Given the description of an element on the screen output the (x, y) to click on. 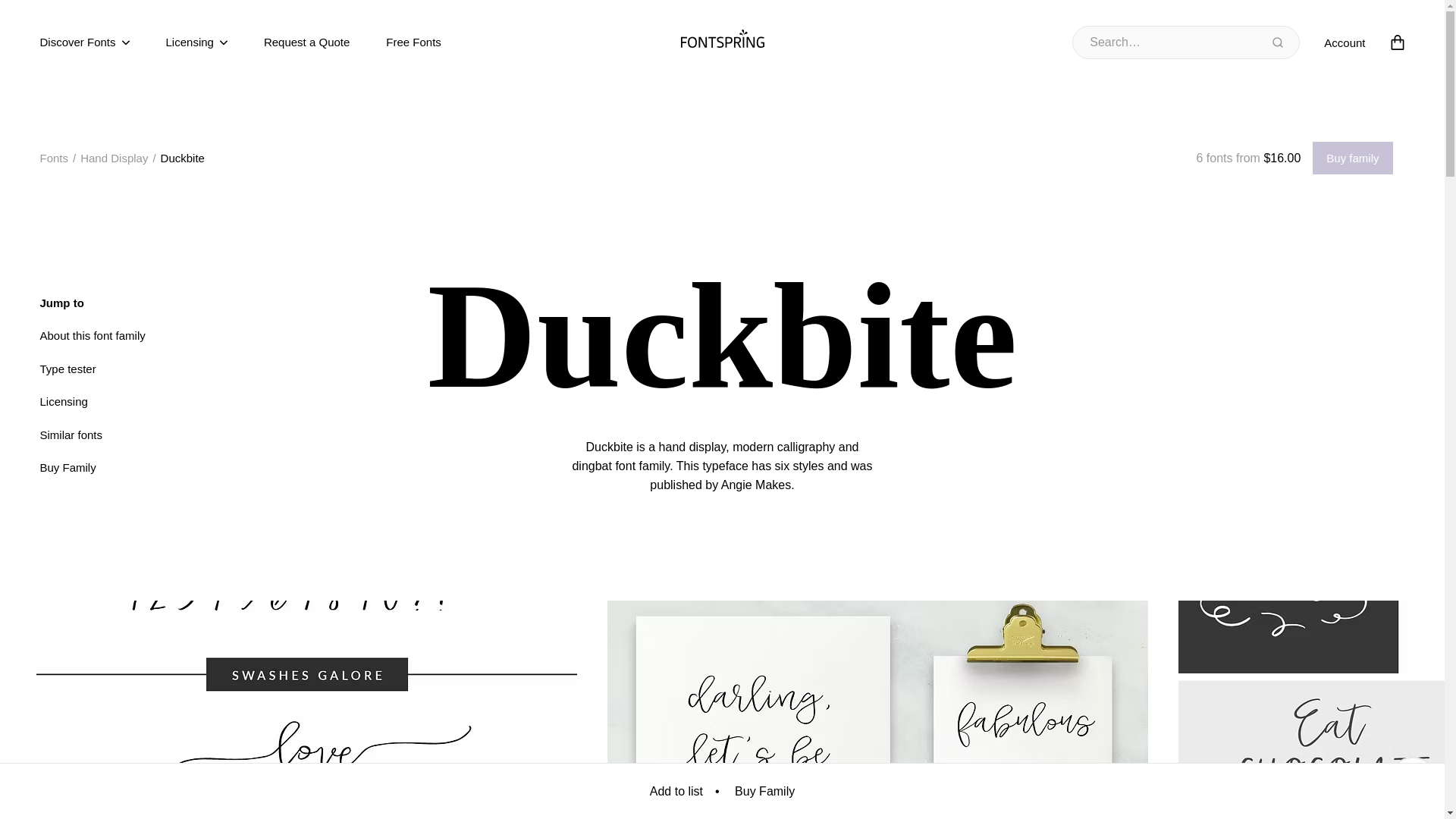
Duckbite (182, 157)
Request a Quote (306, 42)
Free Fonts (413, 42)
Type tester (67, 368)
Buy Family (67, 466)
About this font family (91, 335)
Hand Display (114, 157)
Discover Fonts (84, 42)
Fonts (53, 157)
Similar fonts (70, 433)
Buy family (1352, 157)
Licensing (63, 400)
Licensing (196, 42)
Account (1344, 41)
